Given the description of an element on the screen output the (x, y) to click on. 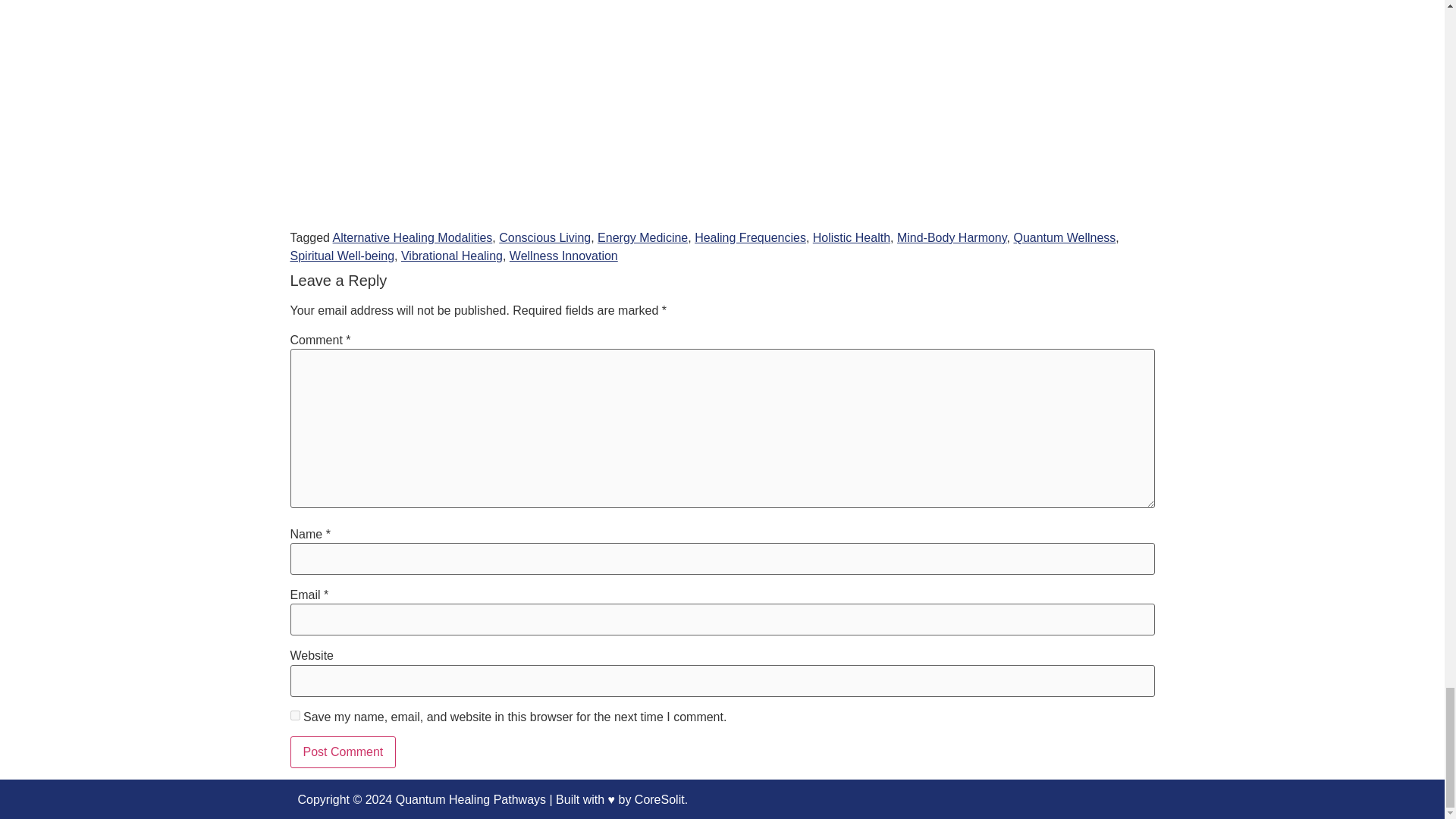
yes (294, 715)
YouTube video player (501, 106)
Conscious Living (545, 237)
Vibrational Healing (451, 255)
Wellness Innovation (563, 255)
Mind-Body Harmony (951, 237)
CoreSolit. (660, 799)
Healing Frequencies (750, 237)
Quantum Wellness (1064, 237)
Holistic Health (850, 237)
